Given the description of an element on the screen output the (x, y) to click on. 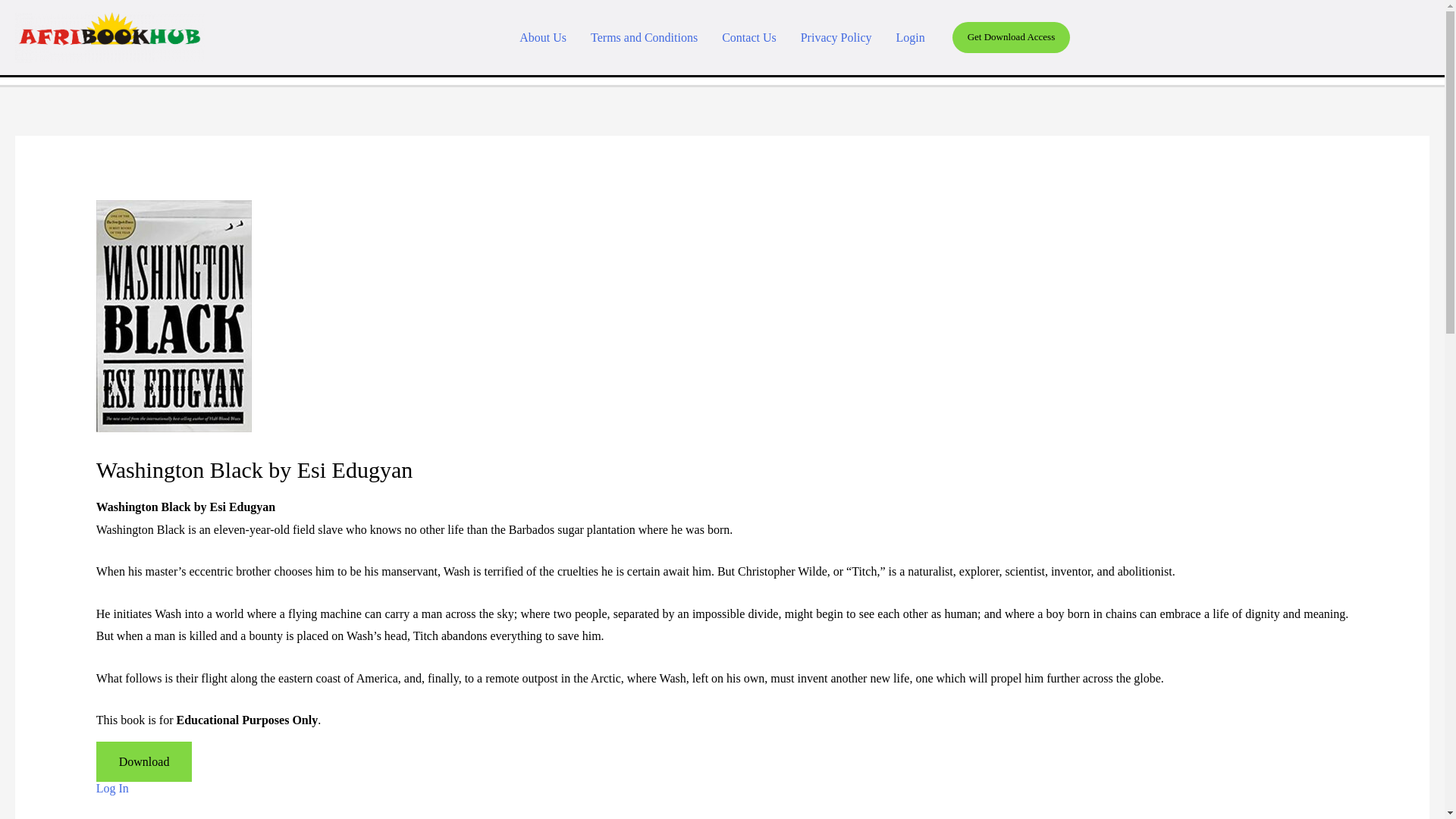
Login (909, 37)
Contact Us (749, 37)
Log In (112, 788)
Download (144, 762)
Privacy Policy (836, 37)
Get Download Access (1011, 37)
About Us (542, 37)
Terms and Conditions (644, 37)
